Given the description of an element on the screen output the (x, y) to click on. 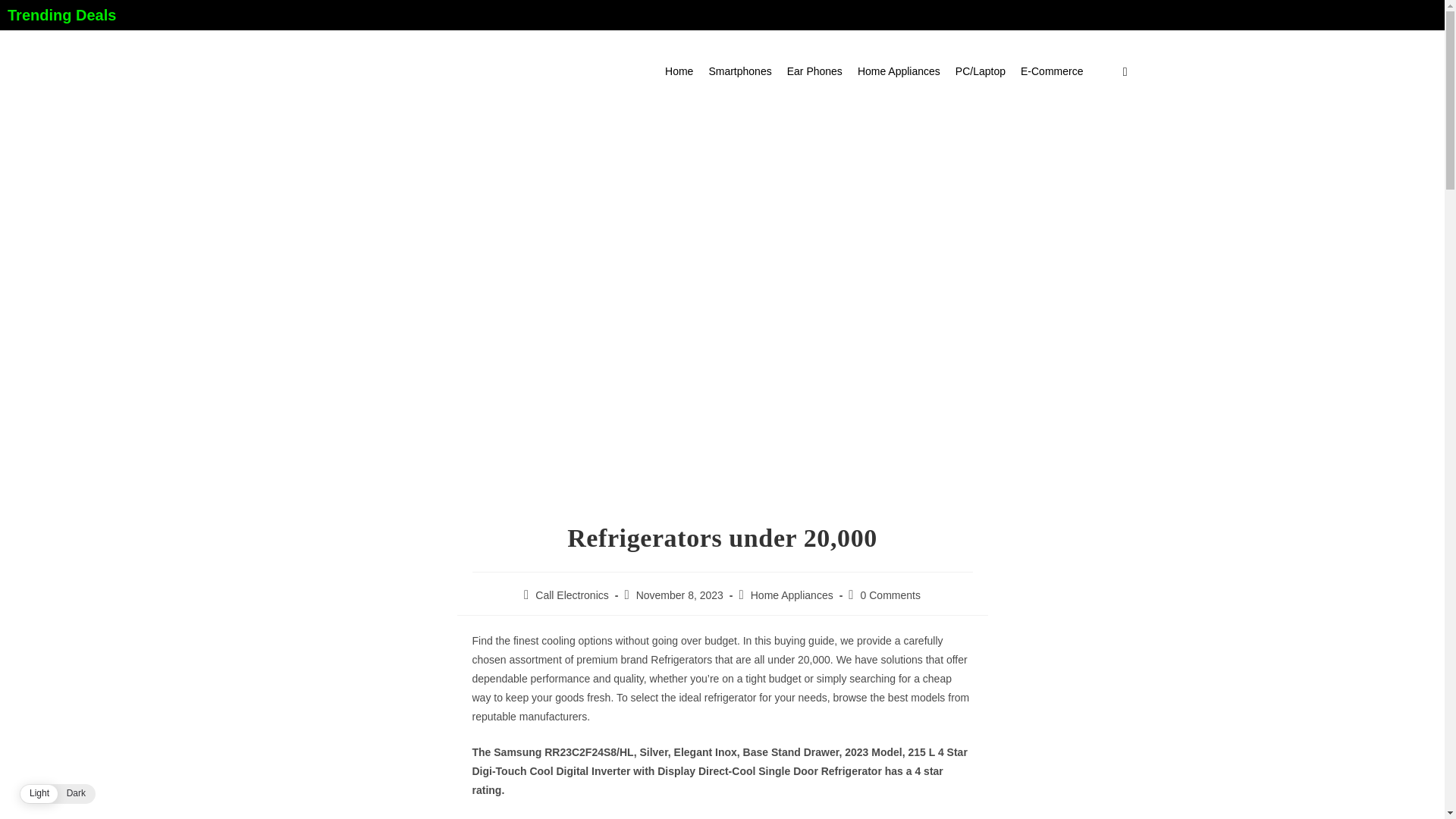
Smartphones (739, 71)
Posts by Call Electronics (571, 594)
E-Commerce (1051, 71)
Home Appliances (898, 71)
Ear Phones (814, 71)
Home (679, 71)
